Given the description of an element on the screen output the (x, y) to click on. 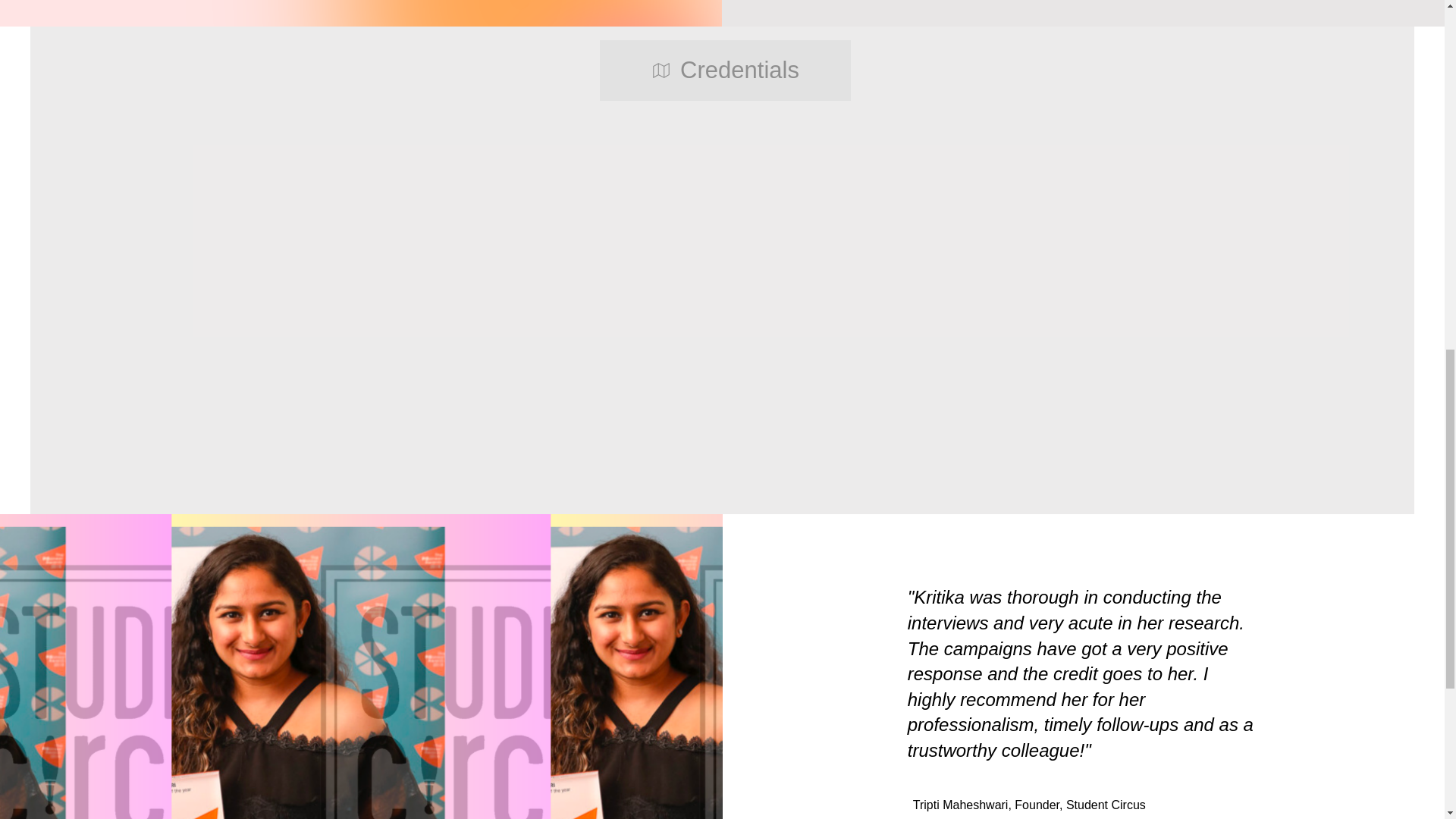
Credentials (724, 70)
